Given the description of an element on the screen output the (x, y) to click on. 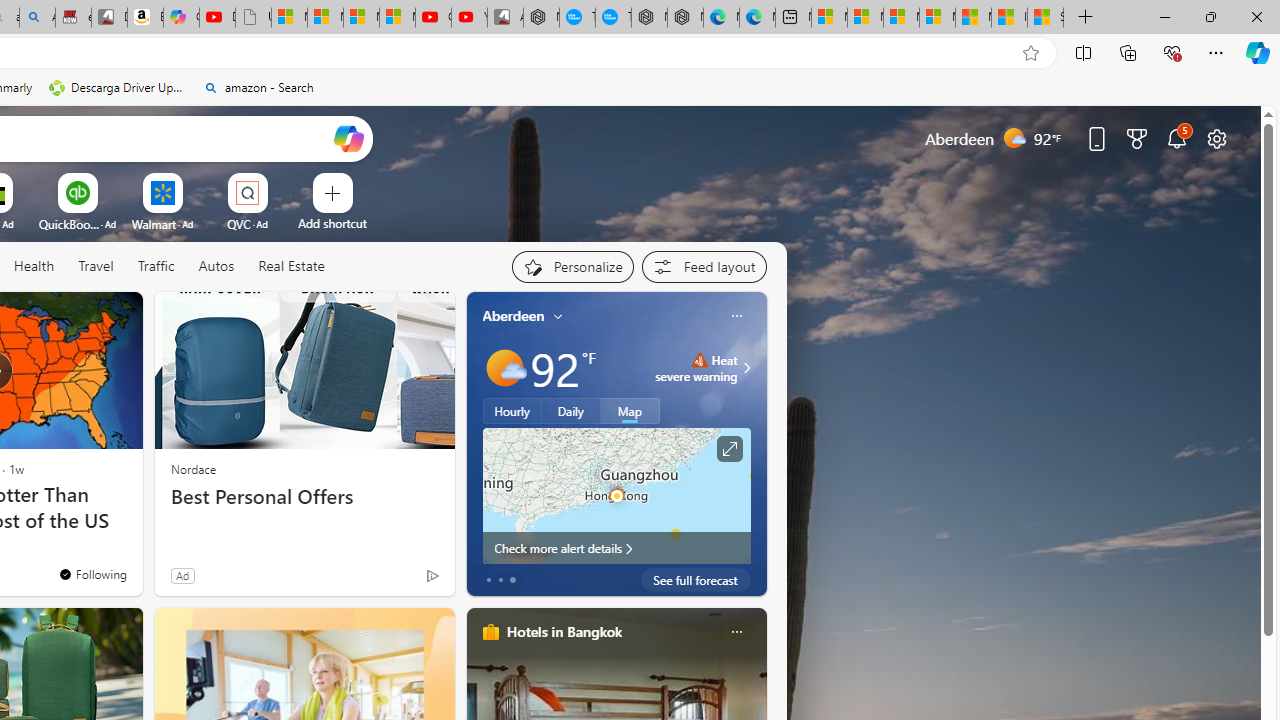
Minimize (1164, 16)
Health (33, 267)
Traffic (155, 265)
New Tab (1085, 17)
More Options (279, 179)
tab-2 (511, 579)
Class: weather-arrow-glyph (746, 367)
Travel (95, 267)
hotels-header-icon (490, 632)
Larger map  (616, 495)
Mostly sunny (504, 368)
Gloom - YouTube (433, 17)
Open Copilot (347, 138)
